Given the description of an element on the screen output the (x, y) to click on. 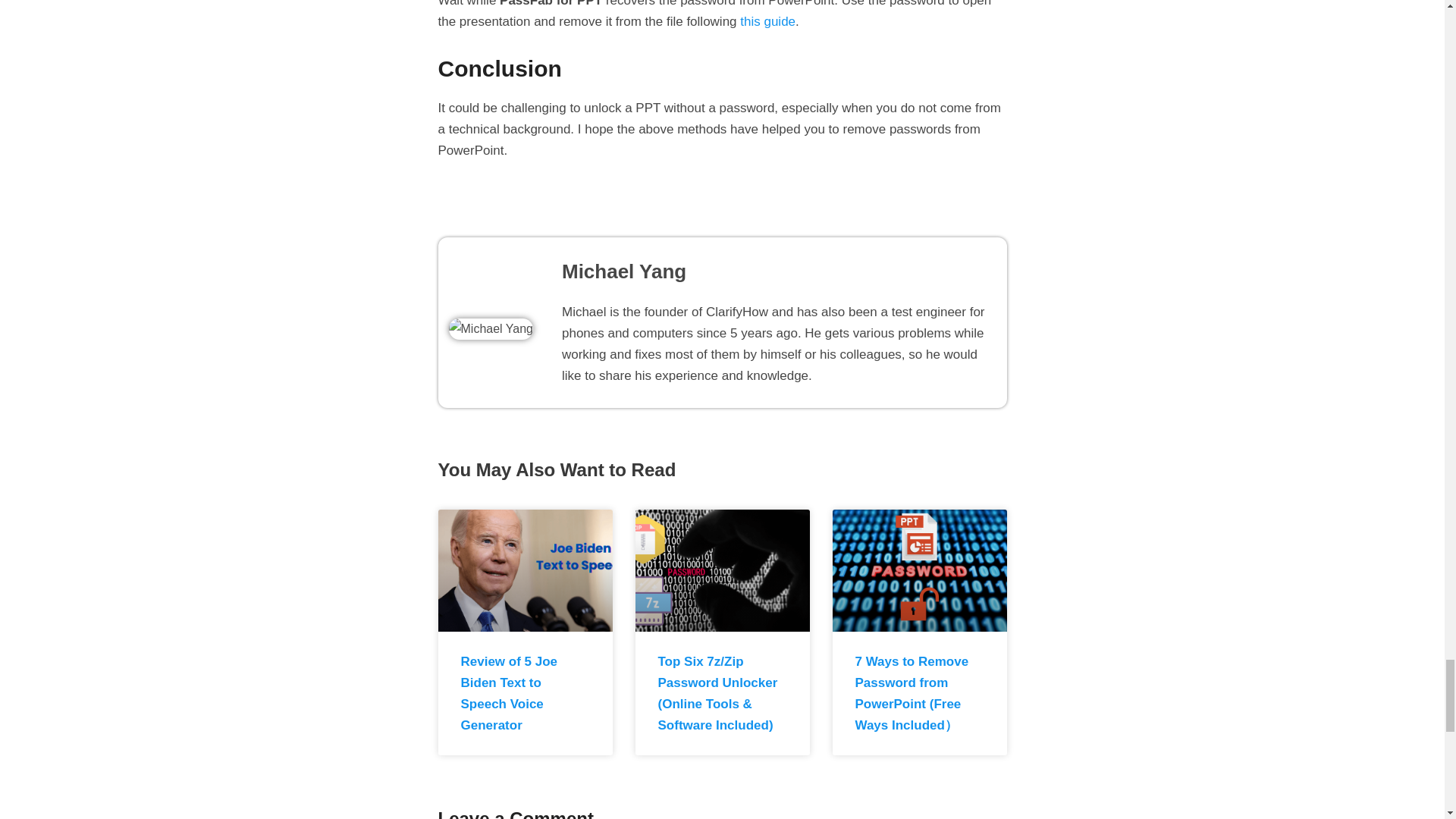
Review of 5 Joe Biden Text to Speech Voice Generator (509, 693)
this guide (766, 21)
